Given the description of an element on the screen output the (x, y) to click on. 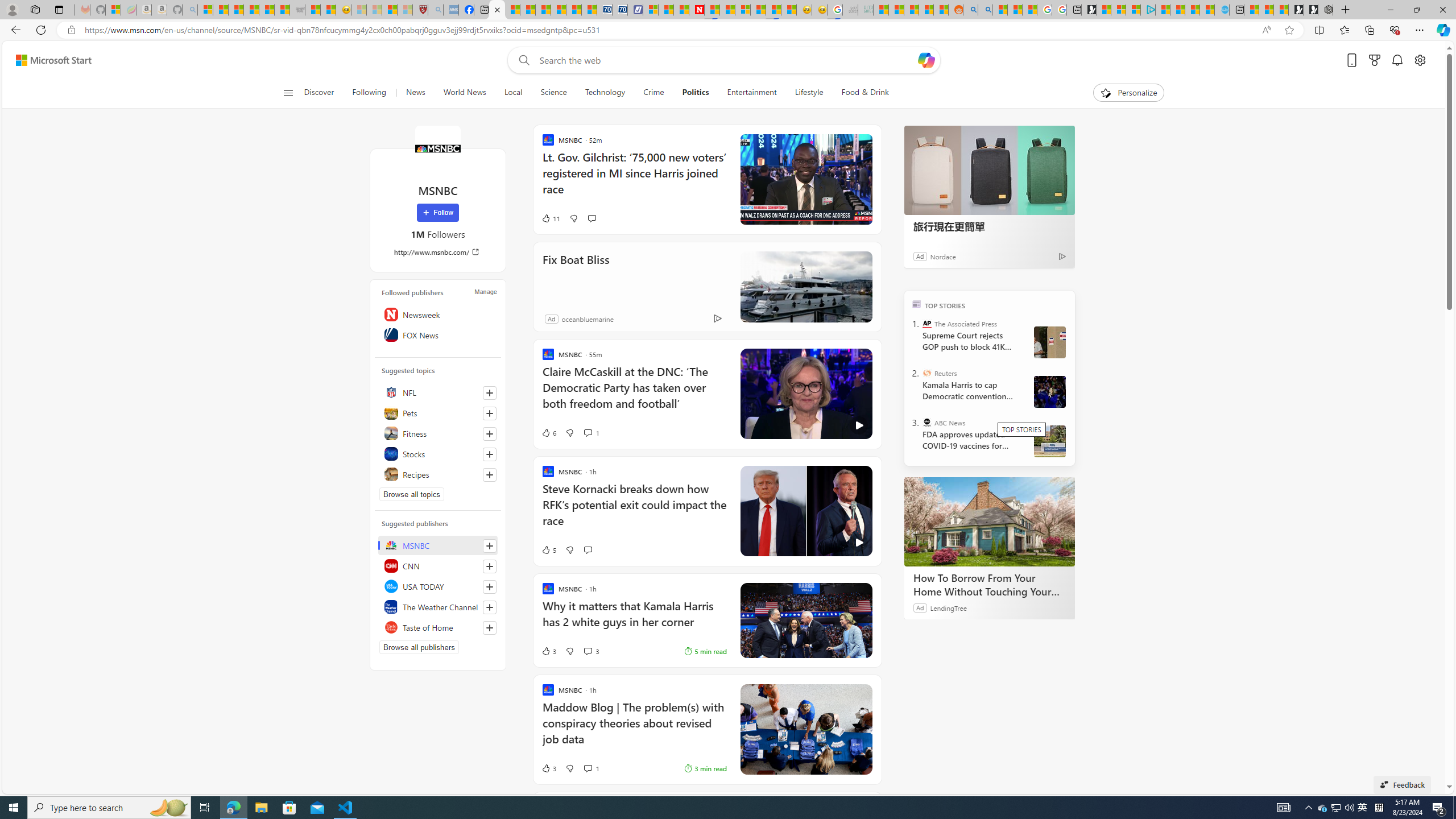
Browse all topics (412, 494)
The Associated Press (927, 323)
